Given the description of an element on the screen output the (x, y) to click on. 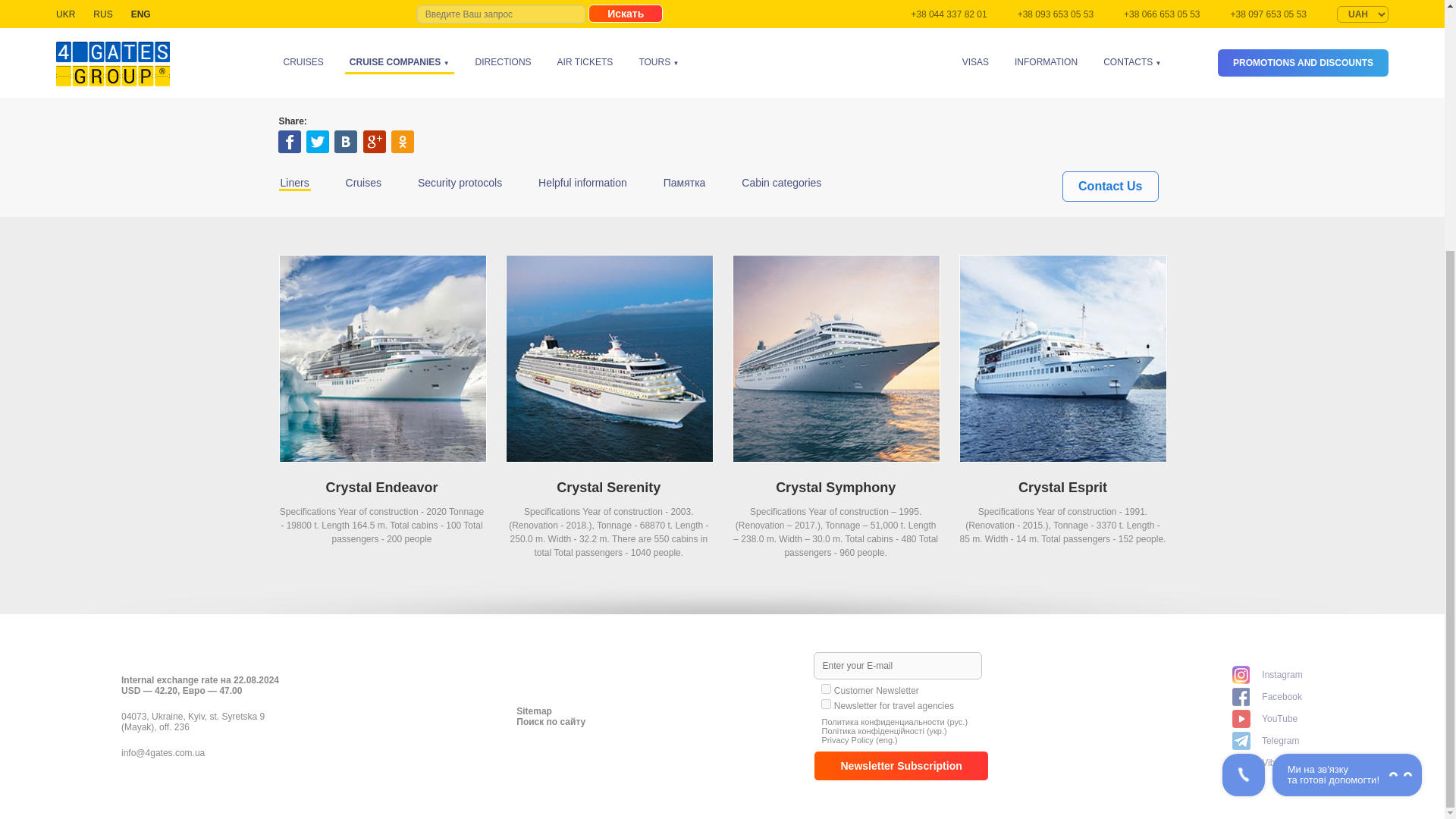
8894427 (826, 688)
Newsletter Subscription (900, 766)
8894815 (826, 704)
